Given the description of an element on the screen output the (x, y) to click on. 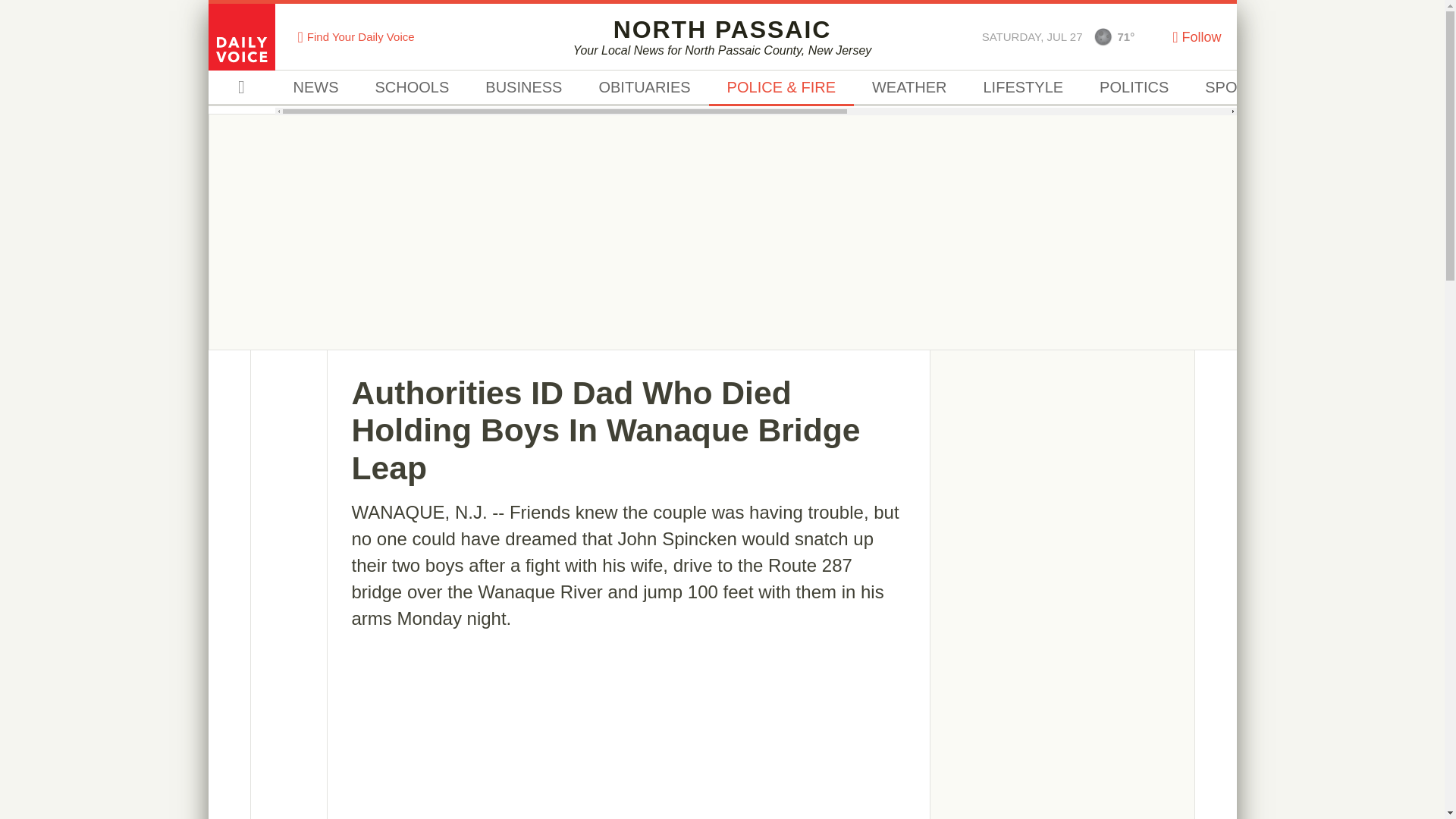
POLITICS (1133, 88)
SCHOOLS (411, 88)
SPORTS (1235, 88)
TRAFFIC (1335, 88)
LIFESTYLE (1022, 88)
OBITUARIES (643, 88)
WEATHER (909, 88)
BUSINESS (523, 88)
NEWS (315, 88)
Fair (1102, 36)
